Given the description of an element on the screen output the (x, y) to click on. 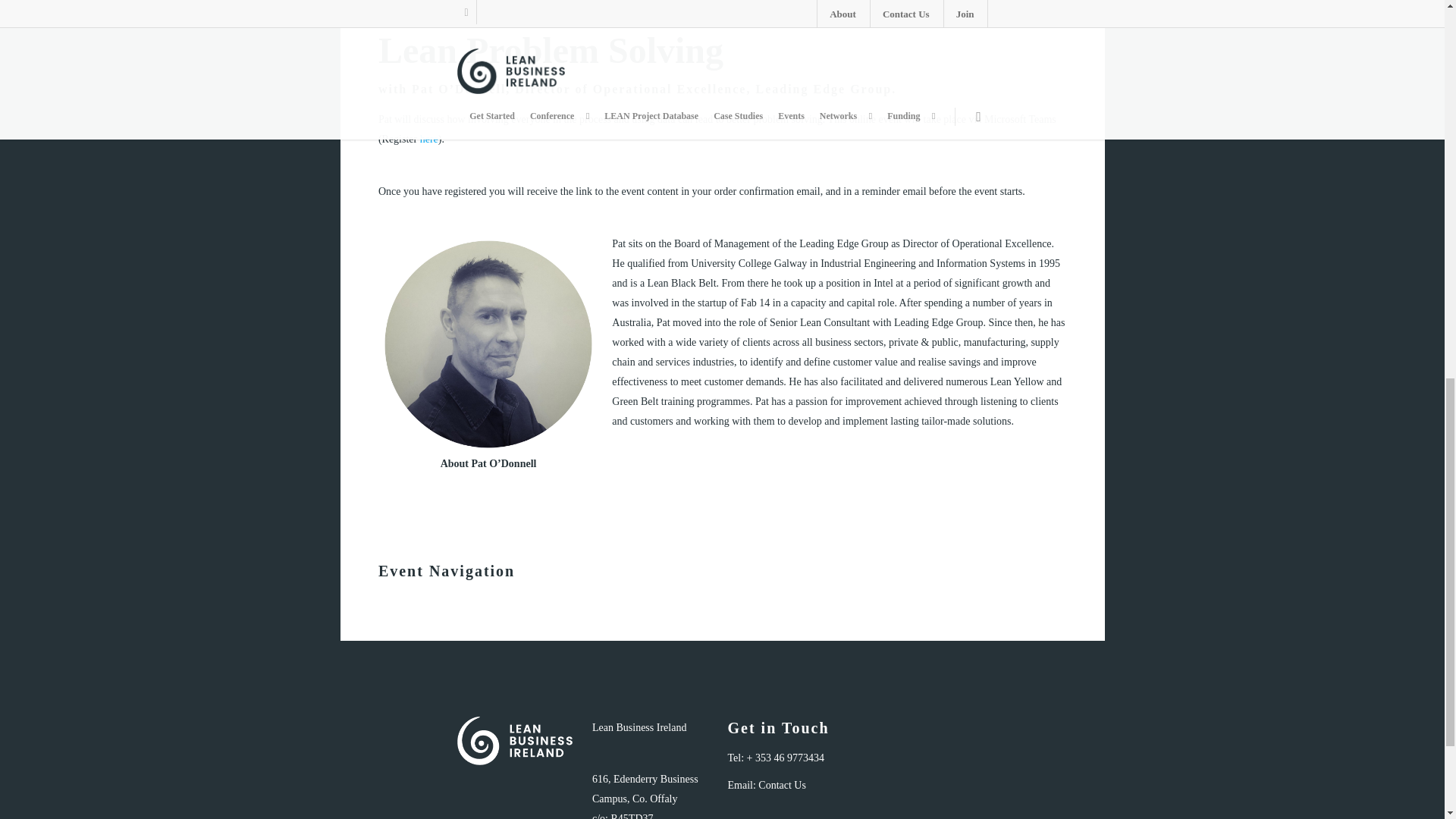
Contact Us (782, 785)
here (429, 138)
